Given the description of an element on the screen output the (x, y) to click on. 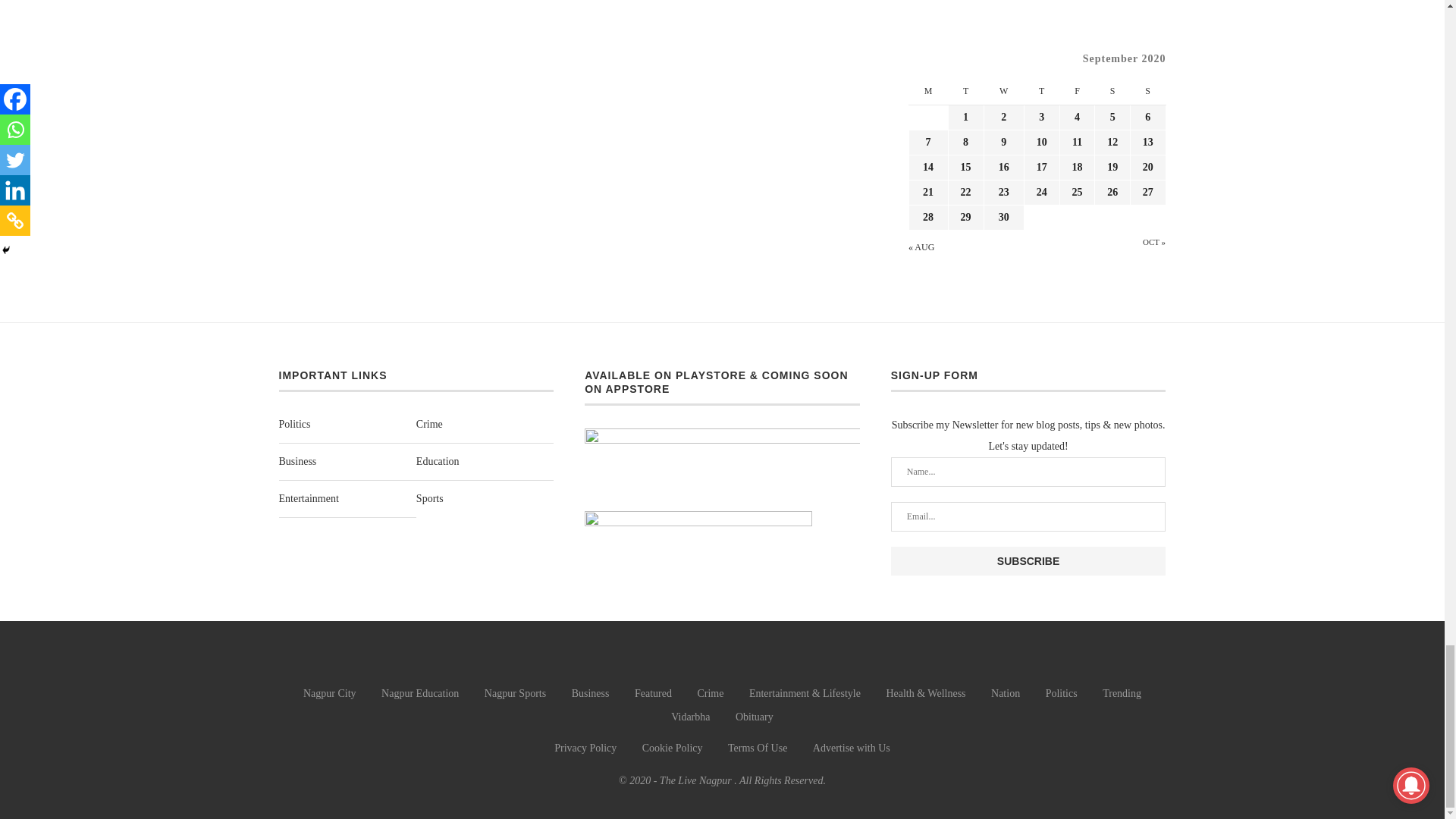
Subscribe (1028, 561)
